Given the description of an element on the screen output the (x, y) to click on. 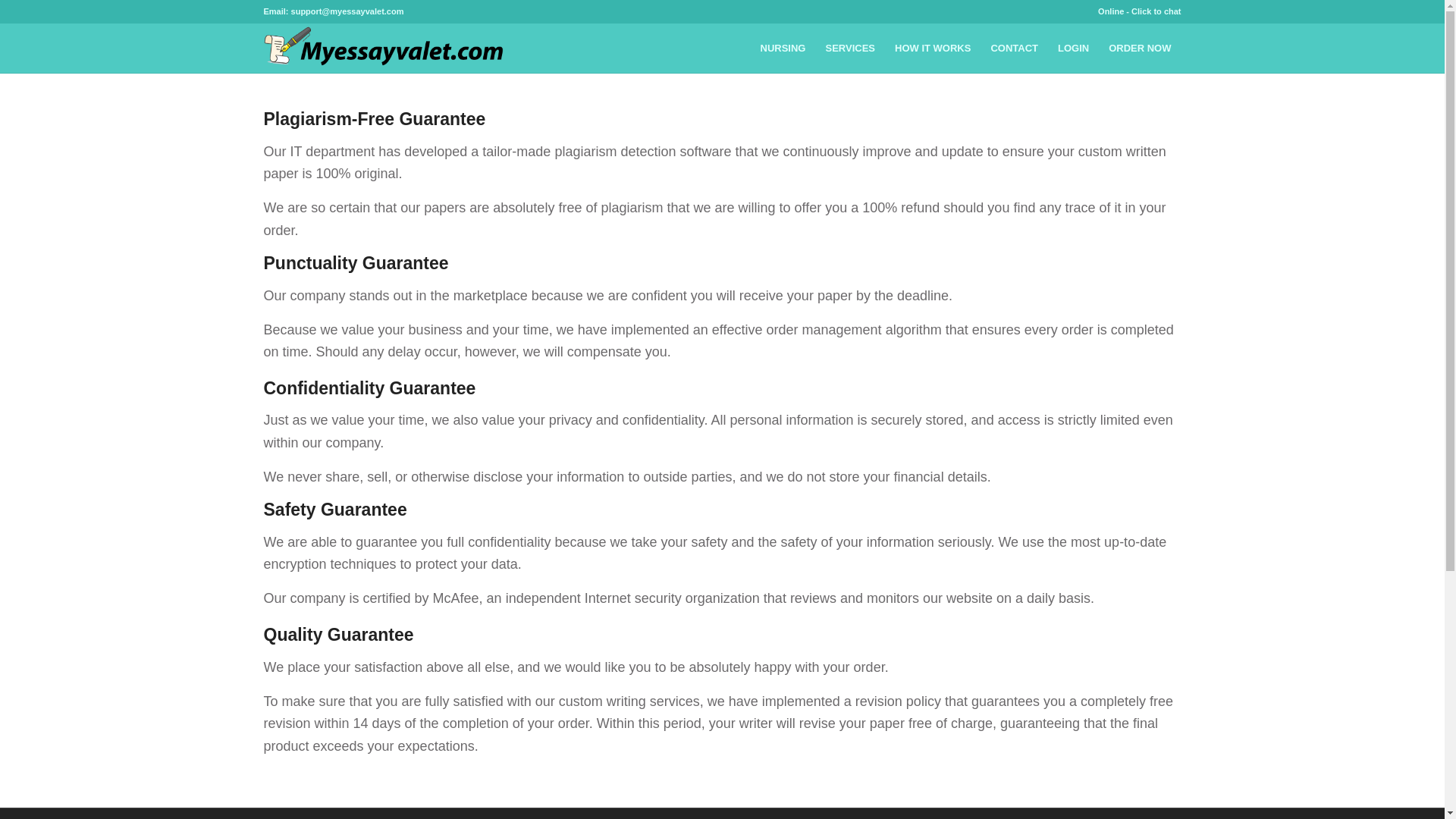
LOGIN (1073, 47)
NURSING (783, 47)
Online - Click to chat (1138, 10)
CONTACT (1013, 47)
ORDER NOW (1139, 47)
logoMEV (387, 47)
HOW IT WORKS (932, 47)
SERVICES (850, 47)
